Given the description of an element on the screen output the (x, y) to click on. 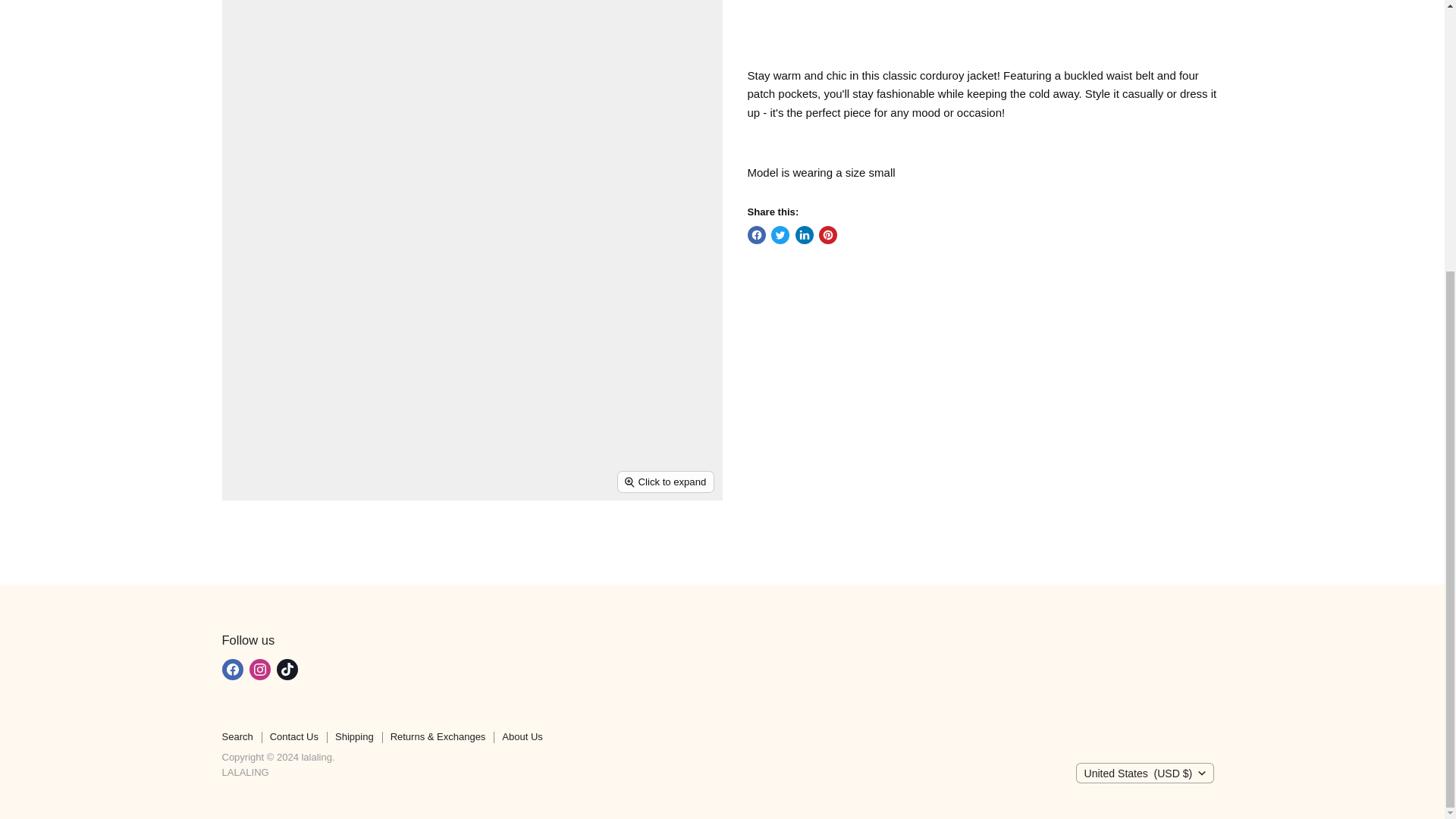
TikTok (286, 669)
Facebook (232, 669)
Instagram (259, 669)
